Given the description of an element on the screen output the (x, y) to click on. 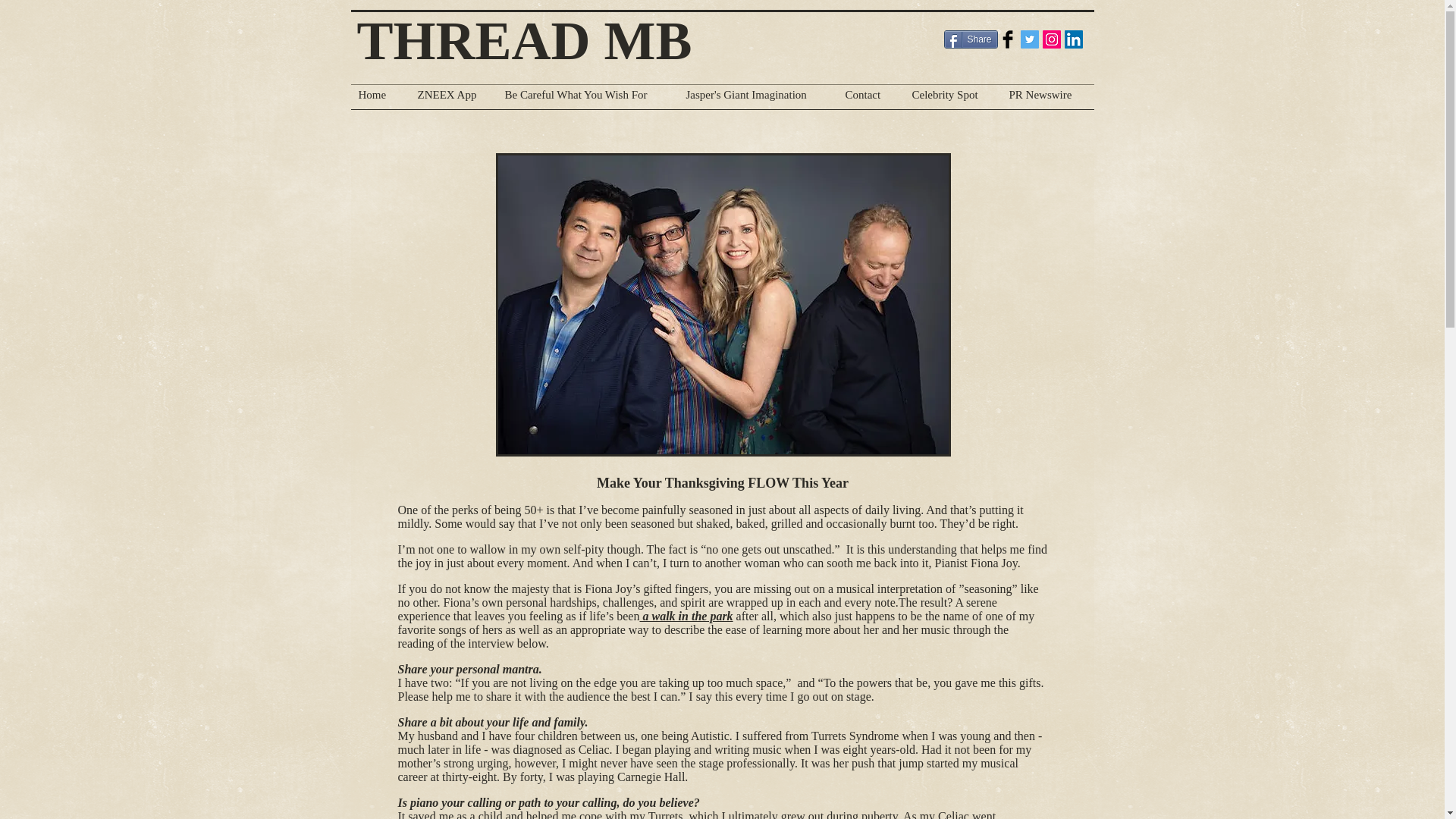
Share (970, 39)
ZNEEX App (452, 99)
Celebrity Spot (952, 99)
Jasper's Giant Imagination (757, 99)
a walk in the park (685, 615)
Contact (870, 99)
Be Careful What You Wish For (587, 99)
Home (379, 99)
THREAD MB  (530, 40)
Share (970, 39)
PR Newswire (1047, 99)
